Given the description of an element on the screen output the (x, y) to click on. 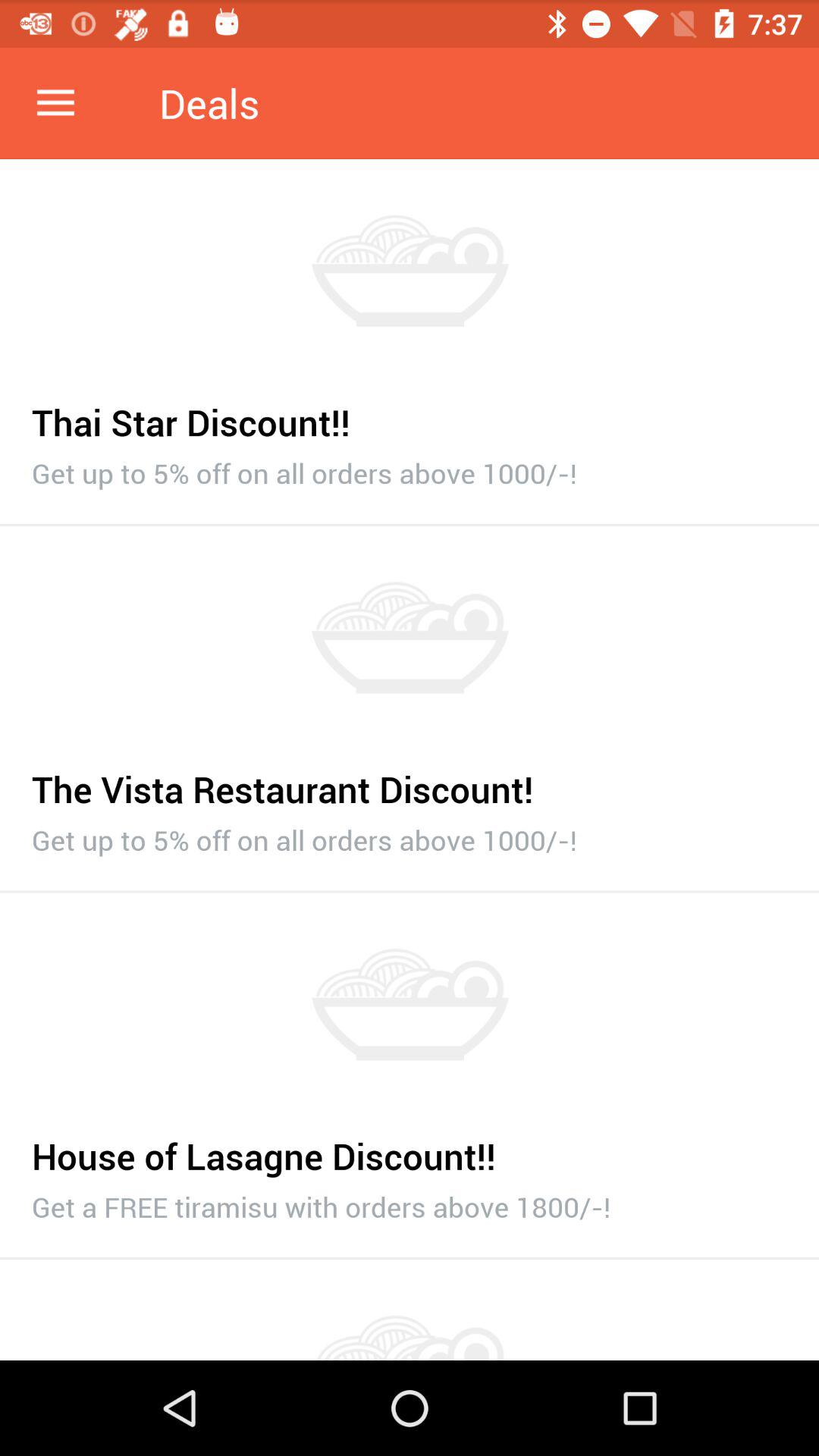
flip until the the vista restaurant item (409, 781)
